Given the description of an element on the screen output the (x, y) to click on. 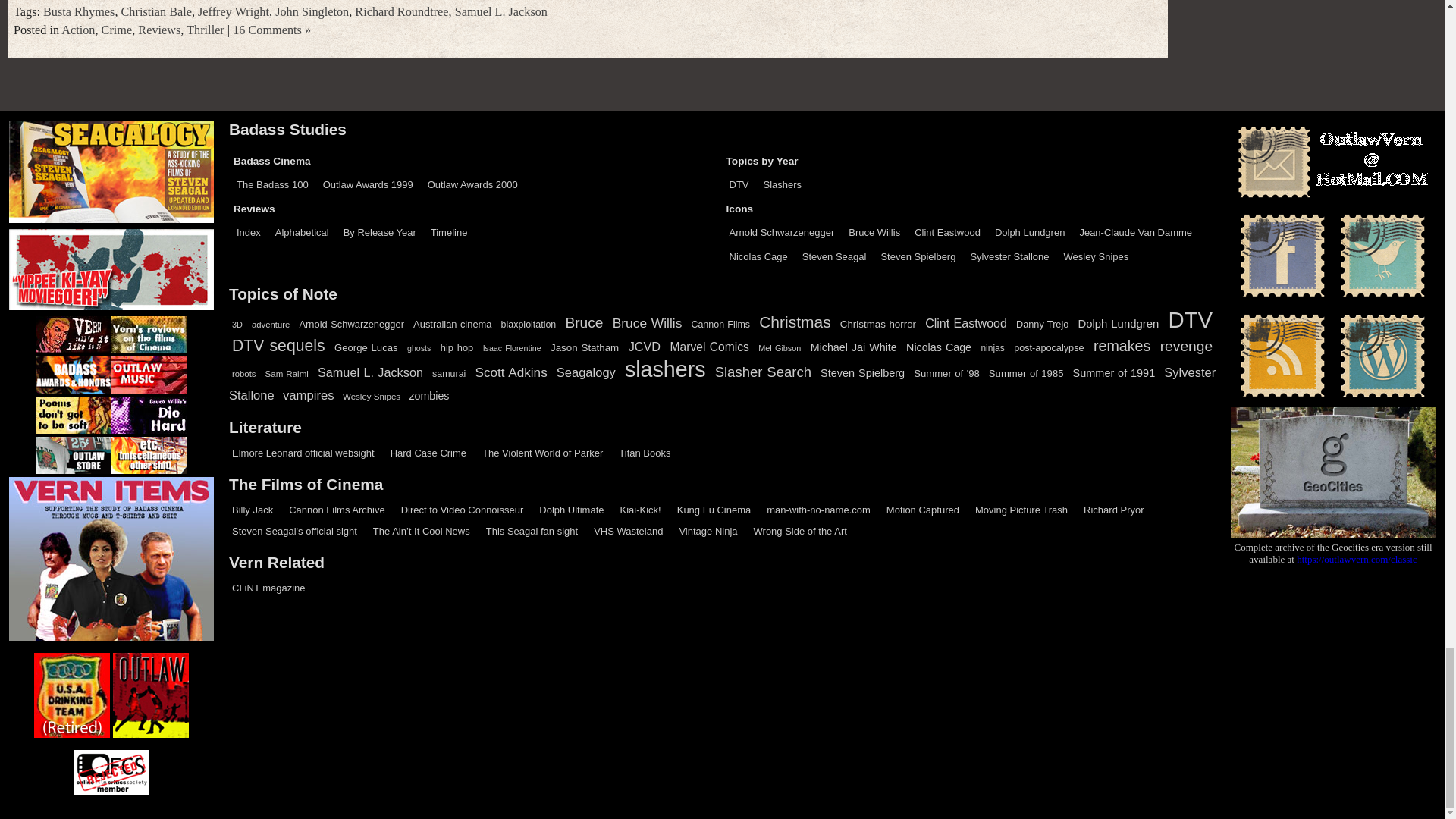
I think you know who that is (302, 452)
